Given the description of an element on the screen output the (x, y) to click on. 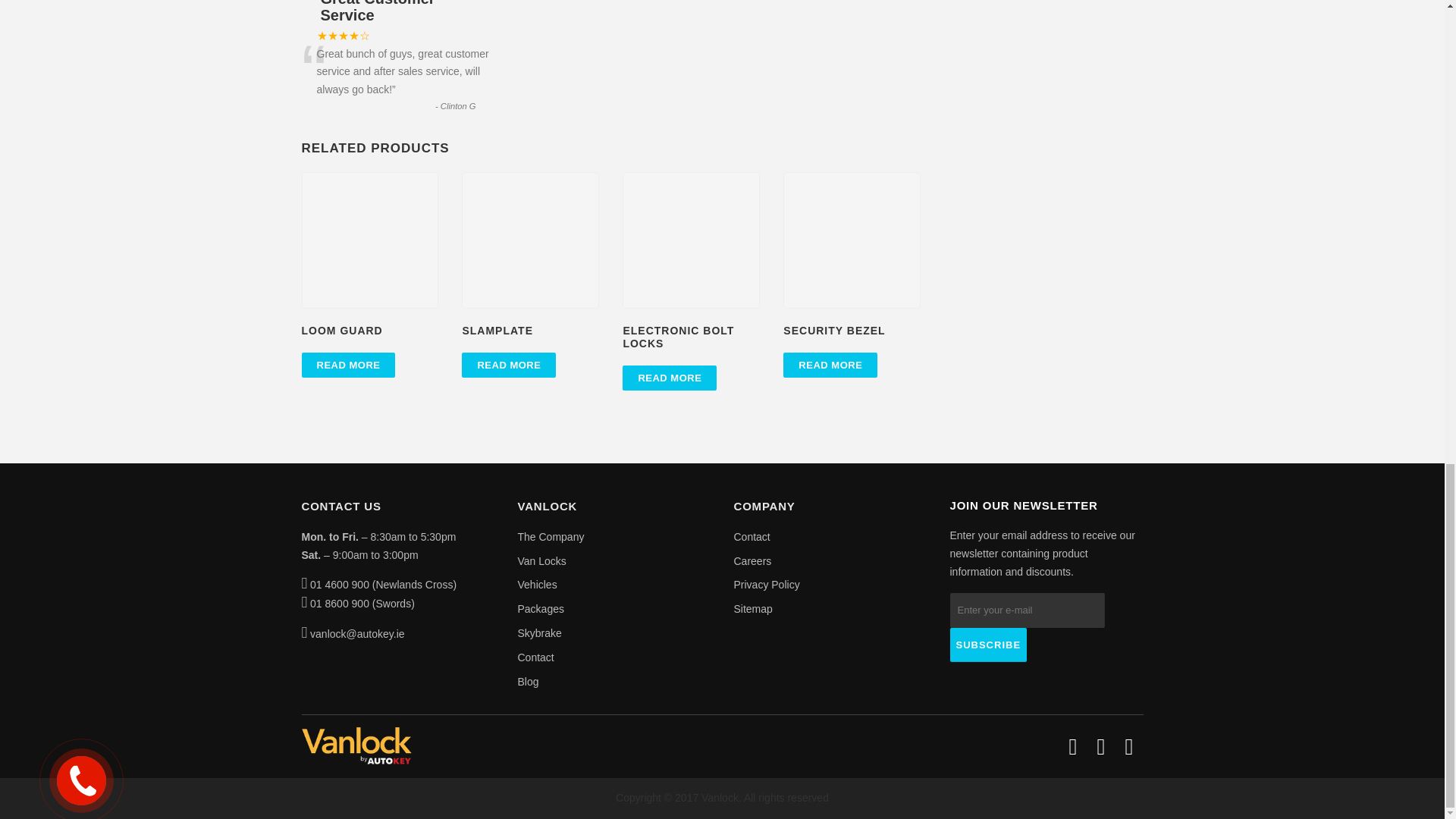
READ MORE (348, 364)
Subscribe (987, 644)
